Given the description of an element on the screen output the (x, y) to click on. 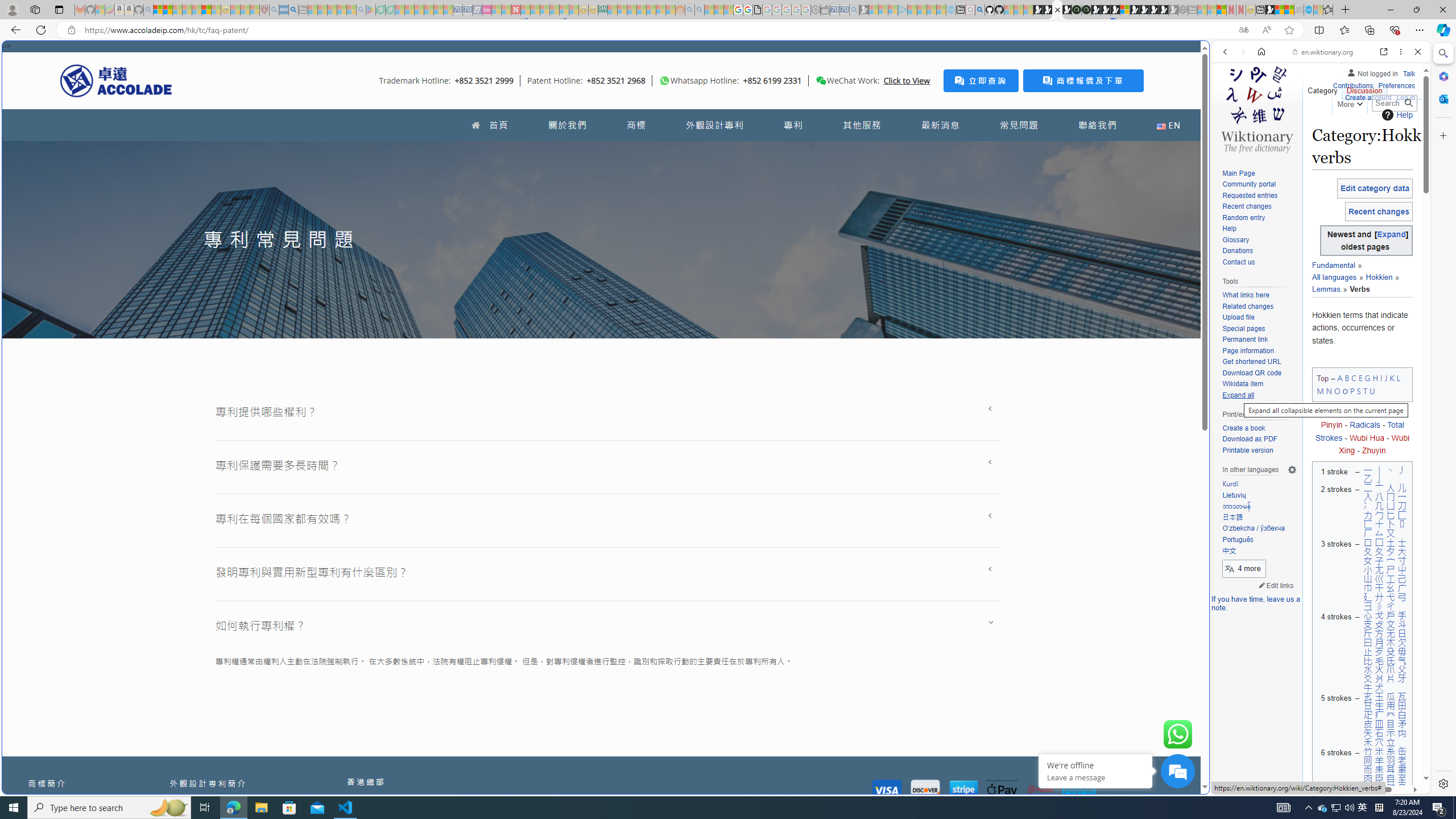
Sign in to your account (1124, 9)
Fundamental (1333, 265)
Special pages (1243, 328)
Total Strokes (1358, 431)
B (1346, 378)
Log in (1405, 98)
G (1367, 378)
